Given the description of an element on the screen output the (x, y) to click on. 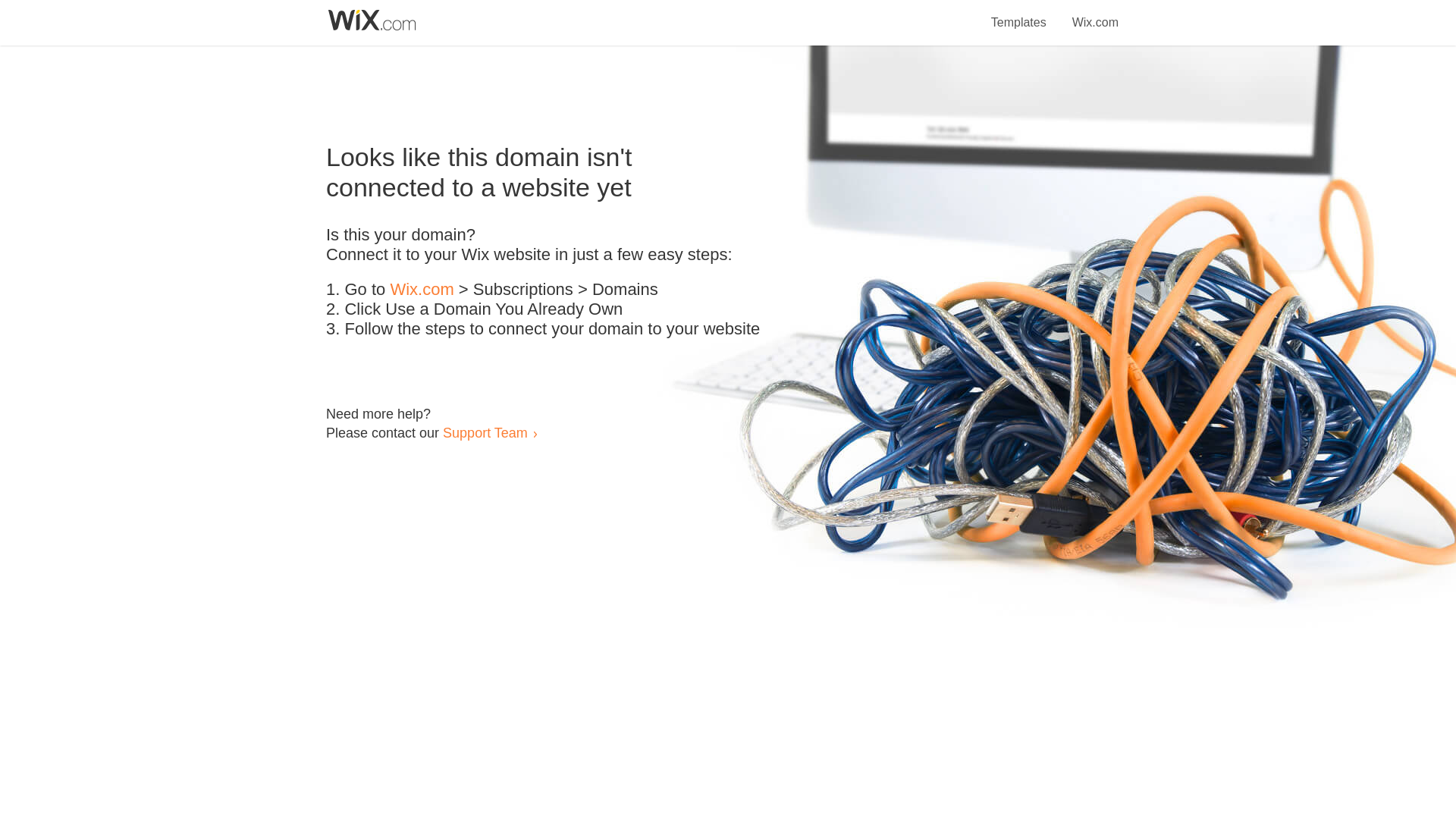
Support Team (484, 432)
Wix.com (421, 289)
Wix.com (1095, 14)
Templates (1018, 14)
